Given the description of an element on the screen output the (x, y) to click on. 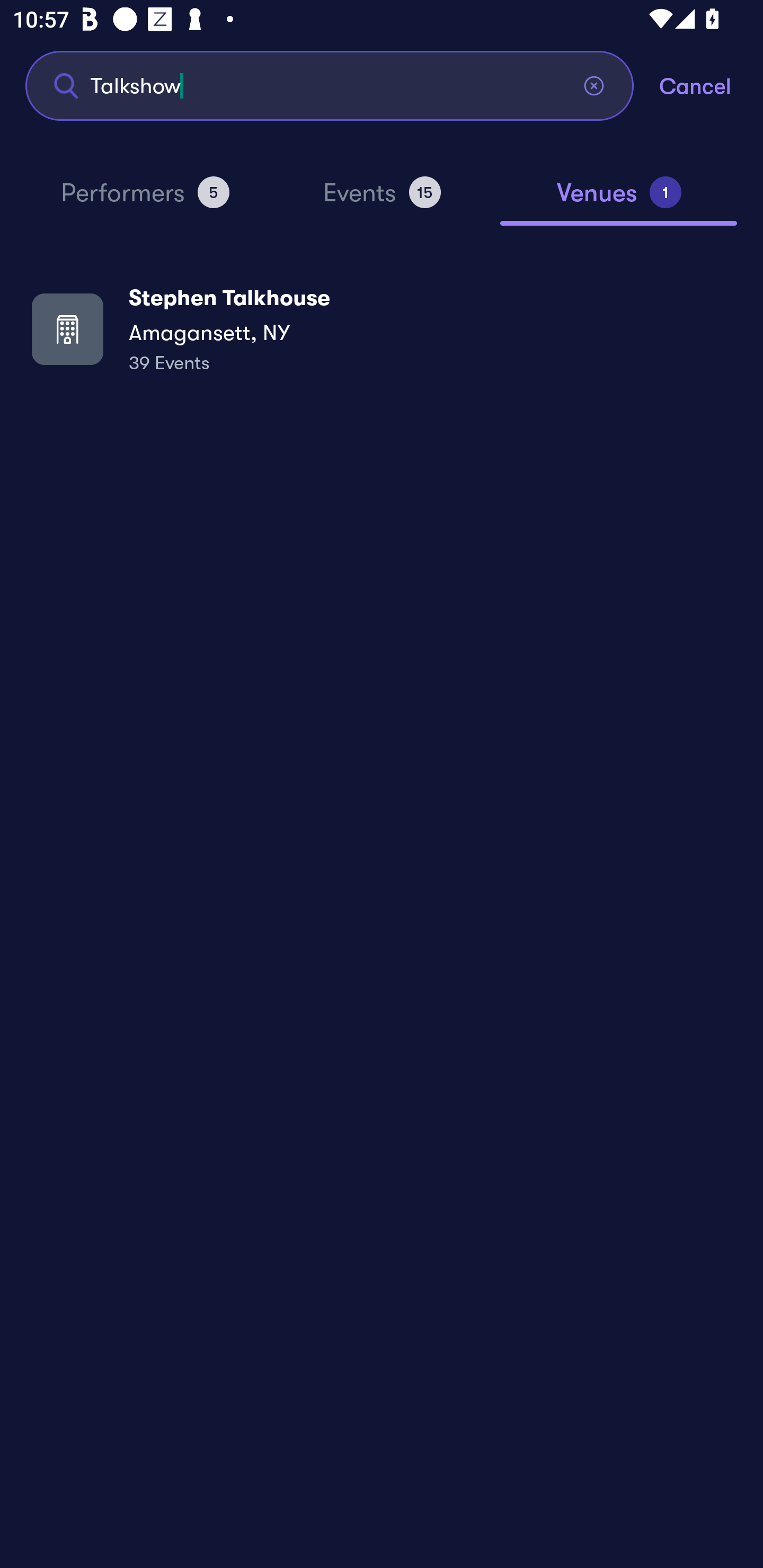
Cancel (711, 85)
Talkshow Find (329, 85)
Talkshow Find (329, 85)
Performers 5 (144, 200)
Events 15 (381, 200)
Venues 1 (618, 200)
Stephen Talkhouse Amagansett, NY 39 Events (381, 328)
